Given the description of an element on the screen output the (x, y) to click on. 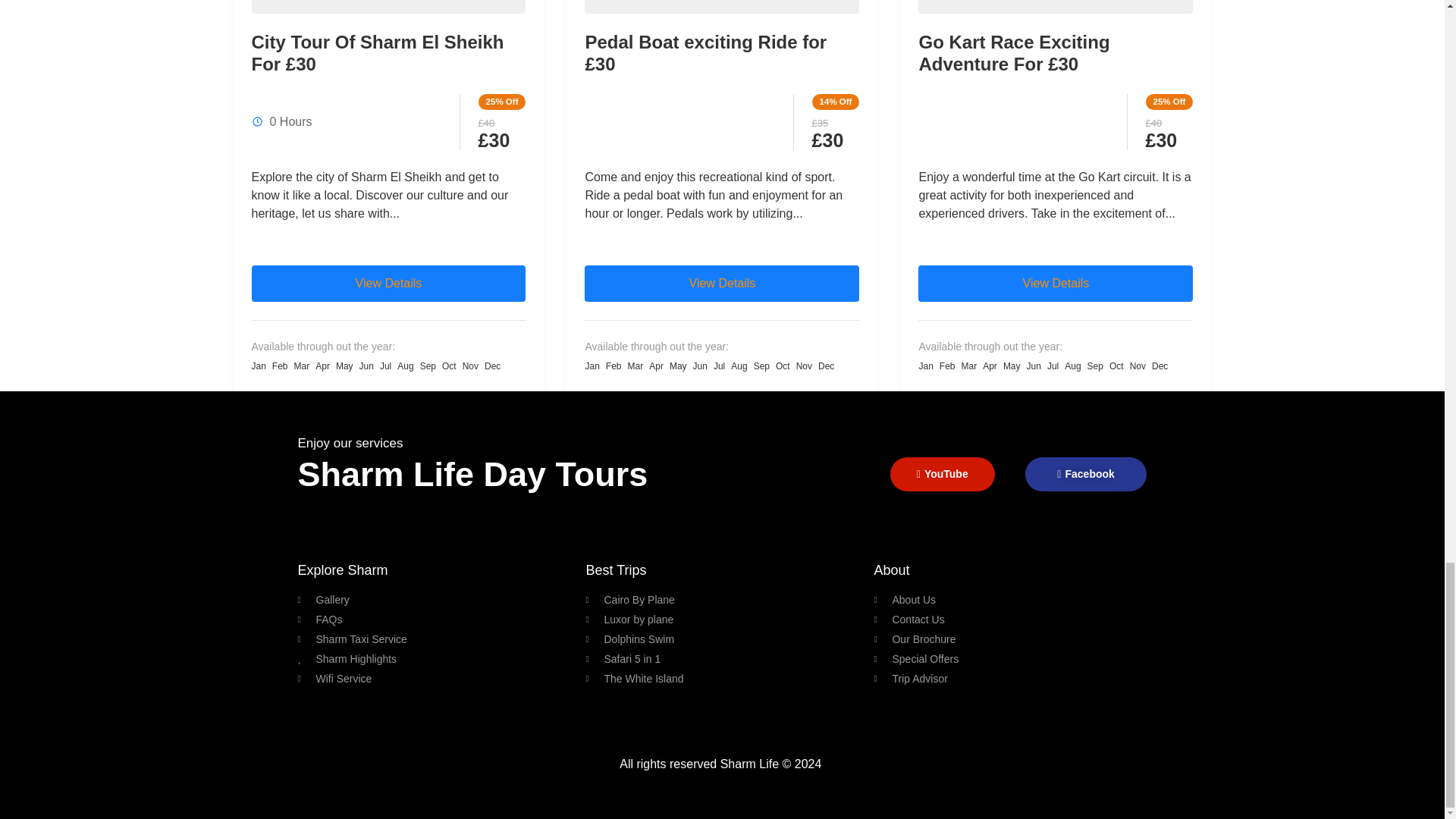
Pedal Boat 01 - Sharm Life (722, 6)
Go Kart 01 - Sharm Life (1055, 6)
Sahaba Mosque 2 - Sharm Life (388, 6)
